Given the description of an element on the screen output the (x, y) to click on. 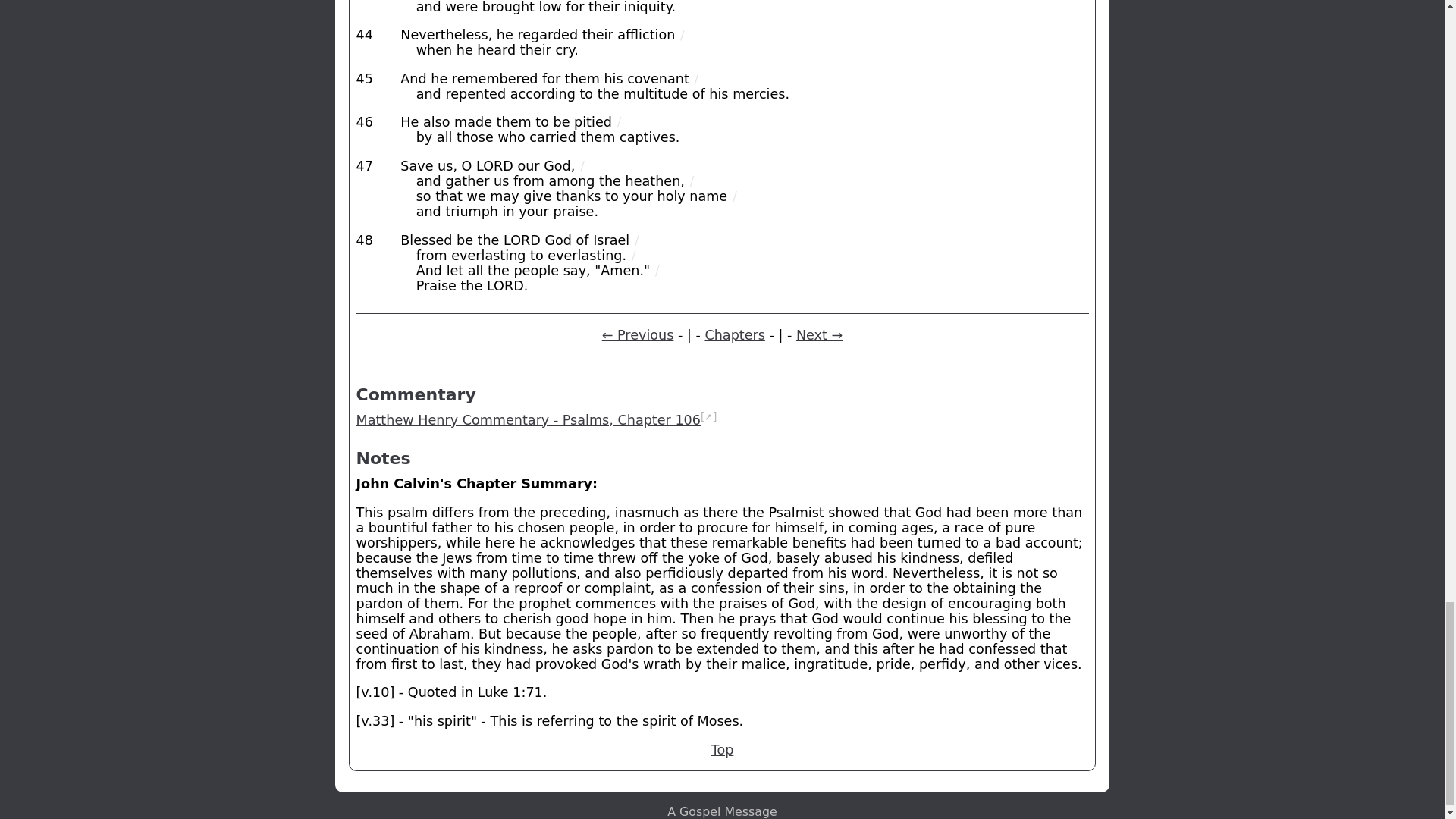
Matthew Henry Commentary - Psalms, Chapter 106 (528, 419)
Top (722, 749)
Chapters (734, 335)
